Given the description of an element on the screen output the (x, y) to click on. 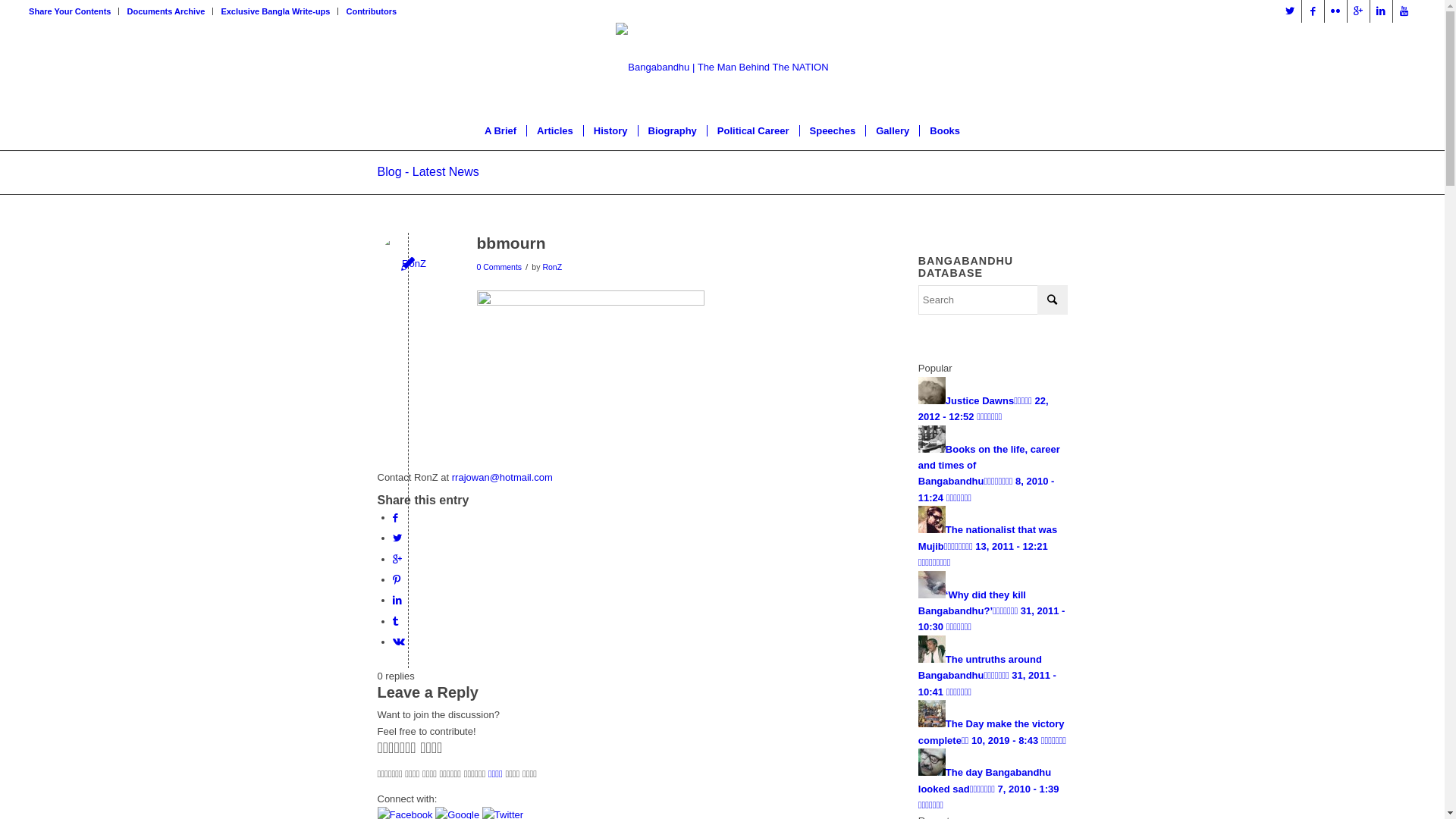
History Element type: text (610, 131)
Gplus Element type: hover (1358, 11)
Documents Archive Element type: text (165, 11)
Blog - Latest News Element type: text (428, 171)
Exclusive Bangla Write-ups Element type: text (274, 11)
Youtube Element type: hover (1404, 11)
bbmourn Element type: text (510, 242)
Articles Element type: text (554, 131)
Share Your Contents Element type: text (69, 11)
Books Element type: text (944, 131)
Contributors Element type: text (370, 11)
Speeches Element type: text (832, 131)
0 Comments Element type: text (498, 266)
Linkedin Element type: hover (1381, 11)
Twitter Element type: hover (1290, 11)
Gallery Element type: text (892, 131)
rrajowan@hotmail.com Element type: text (501, 477)
Facebook Element type: hover (1313, 11)
A Brief Element type: text (500, 131)
Flickr Element type: hover (1335, 11)
Biography Element type: text (671, 131)
Political Career Element type: text (752, 131)
RonZ Element type: text (551, 266)
